Given the description of an element on the screen output the (x, y) to click on. 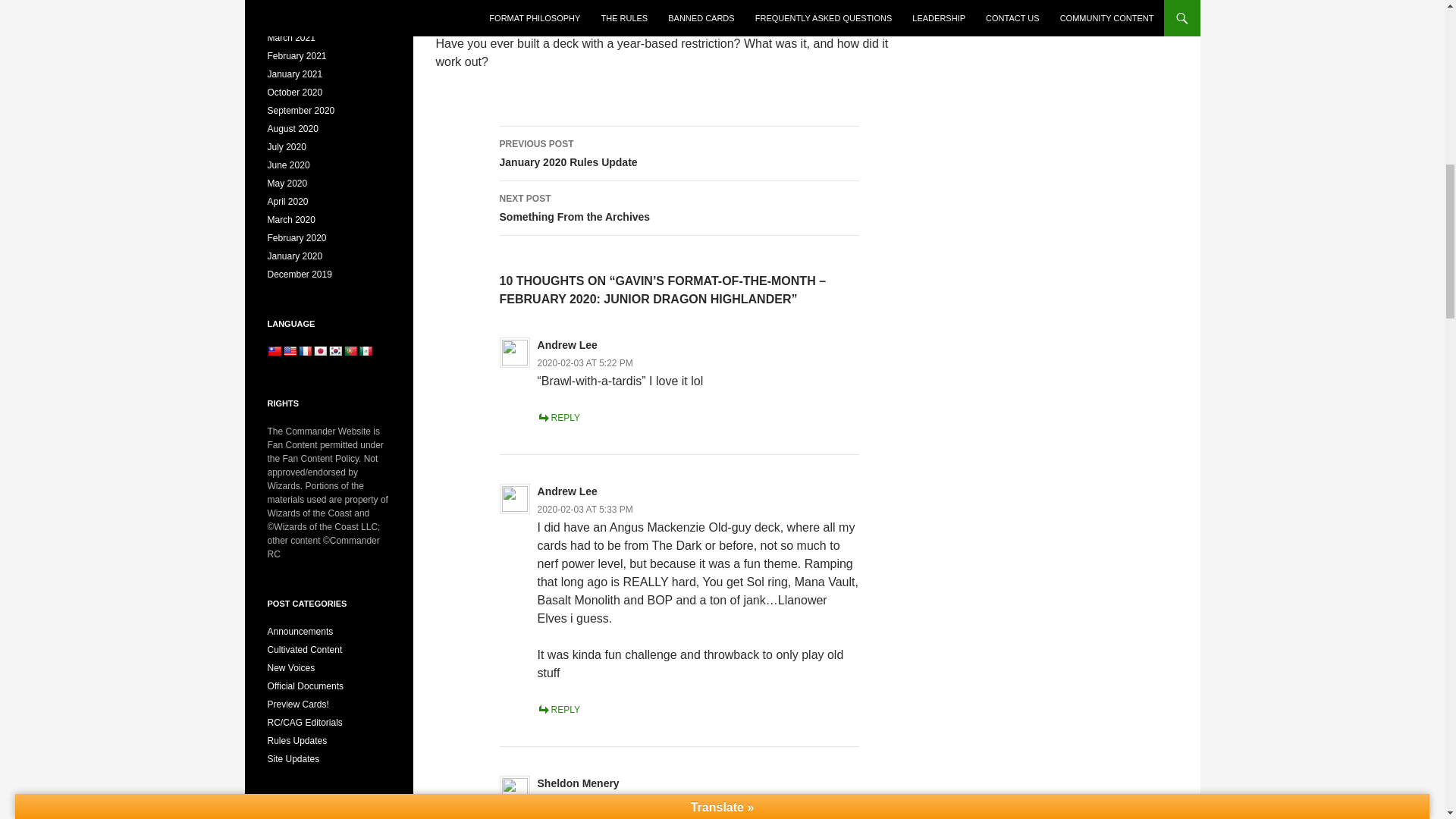
2020-02-06 AT 10:41 PM (588, 801)
Korean (333, 350)
2020-02-03 AT 5:22 PM (585, 362)
Spanish (364, 350)
Portuguese (679, 153)
REPLY (349, 350)
French (558, 709)
Japanese (304, 350)
REPLY (319, 350)
2020-02-03 AT 5:33 PM (558, 417)
English (679, 207)
